Given the description of an element on the screen output the (x, y) to click on. 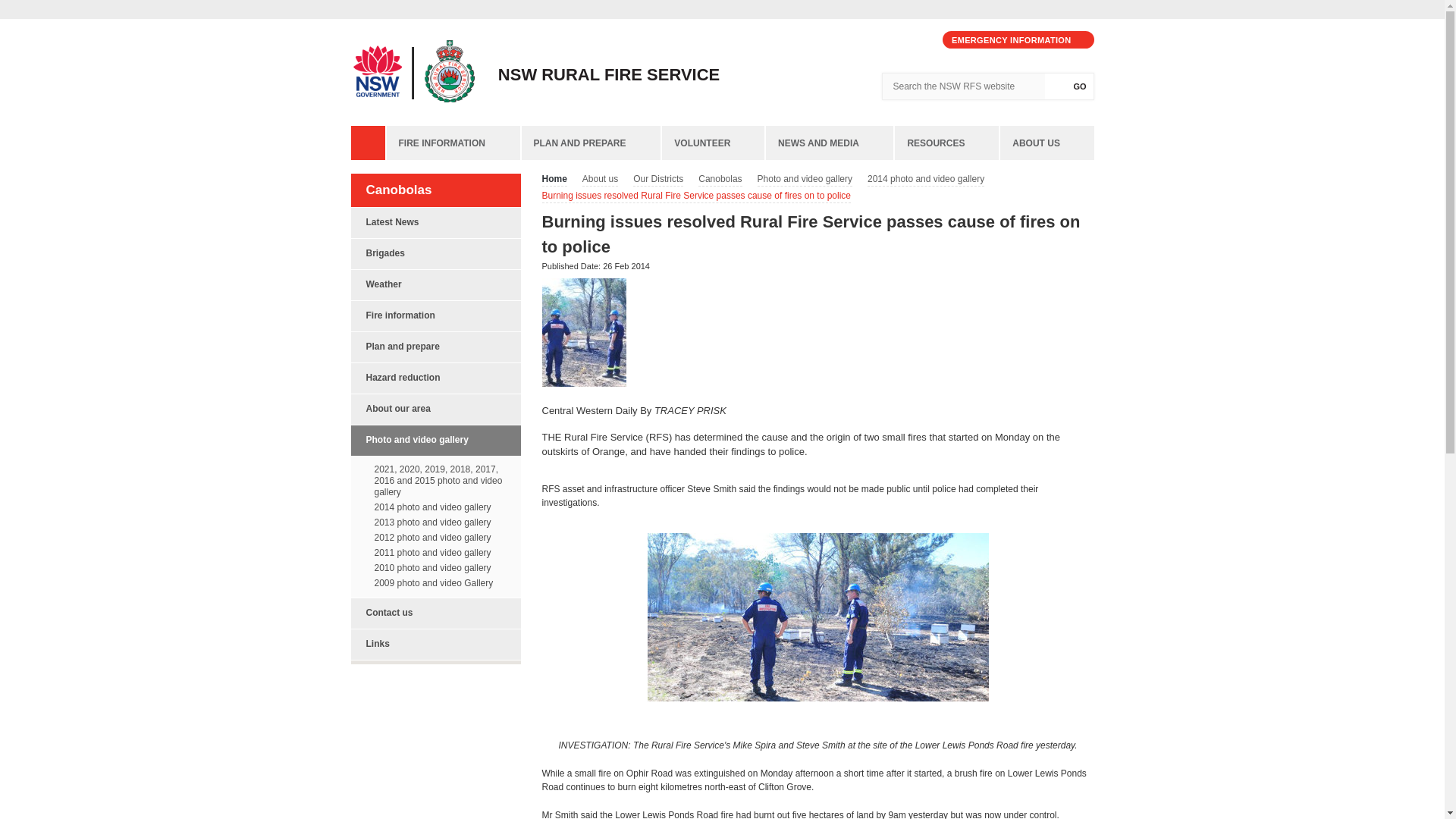
EMERGENCY INFORMATION (1017, 39)
Print this page (900, 40)
Contact us (882, 40)
Header (14, 4)
Accessibility (919, 40)
Go (1069, 86)
Go (1069, 86)
Print this page (900, 40)
Contact Us (882, 40)
